Given the description of an element on the screen output the (x, y) to click on. 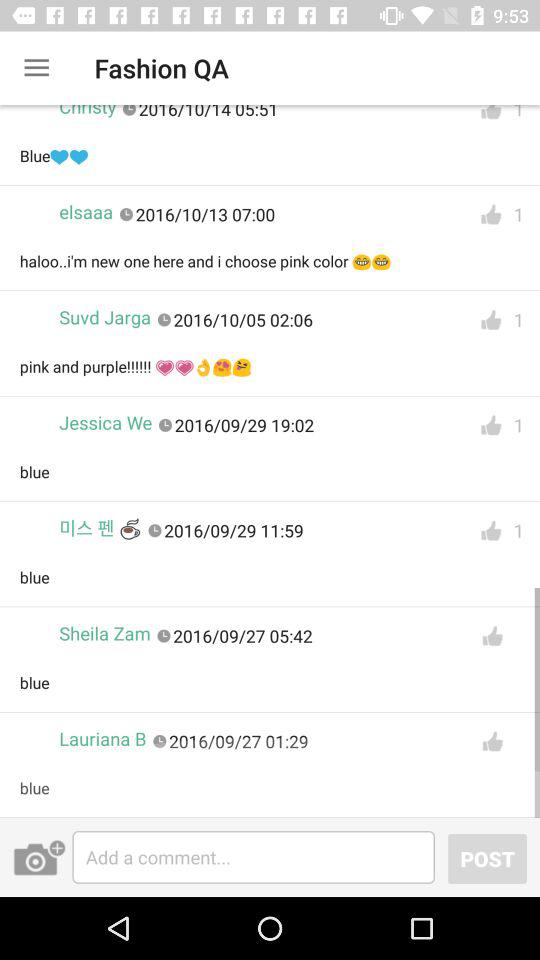
tap the christy item (87, 115)
